Given the description of an element on the screen output the (x, y) to click on. 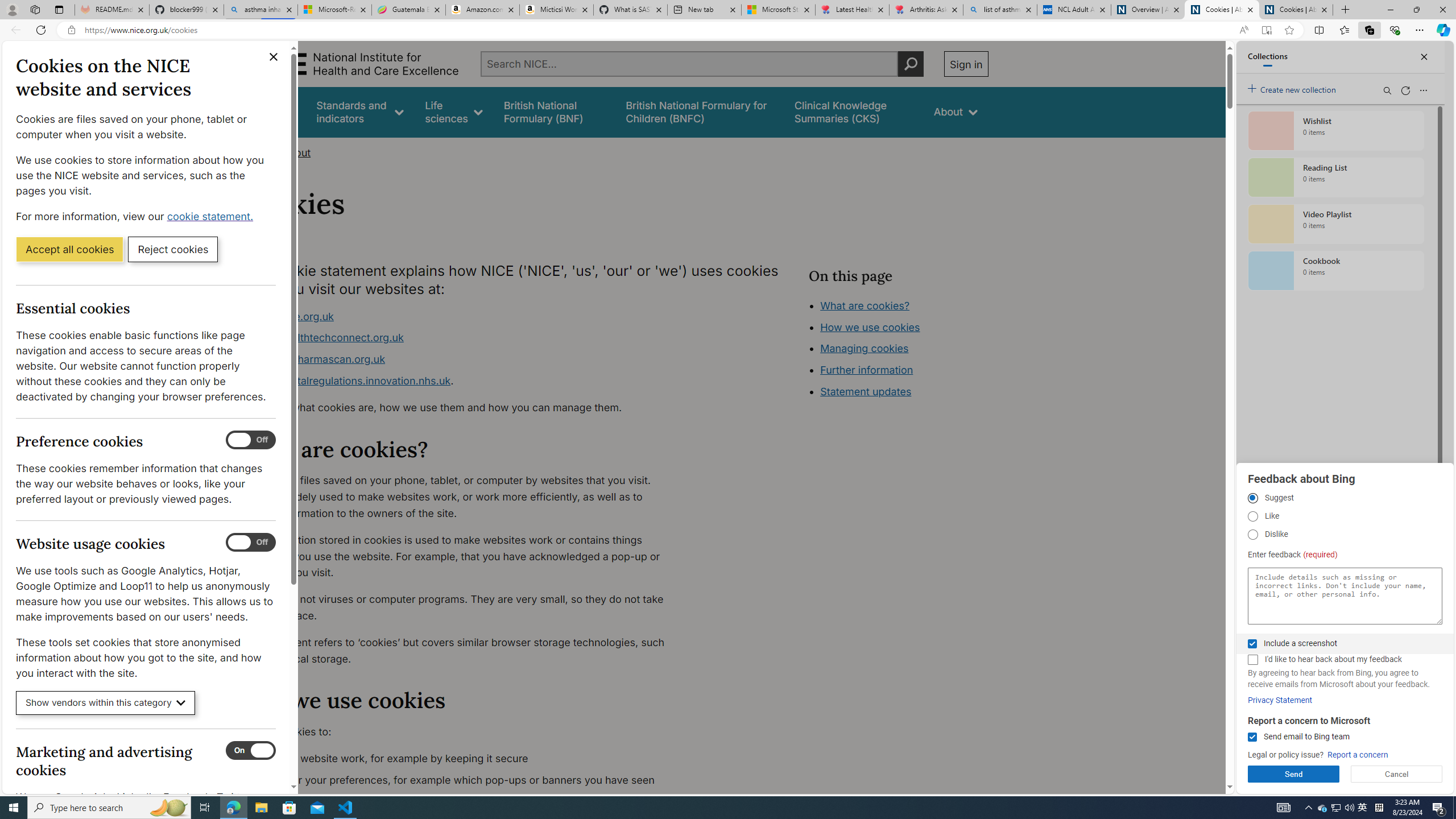
Class: in-page-nav__list (898, 349)
British National Formulary for Children (BNFC) (699, 111)
Marketing and advertising cookies (250, 750)
About (296, 152)
Privacy Statement (1280, 700)
Suggest (1252, 498)
cookie statement. (Opens in a new window) (211, 215)
www.nice.org.uk (464, 316)
Arthritis: Ask Health Professionals (925, 9)
